Given the description of an element on the screen output the (x, y) to click on. 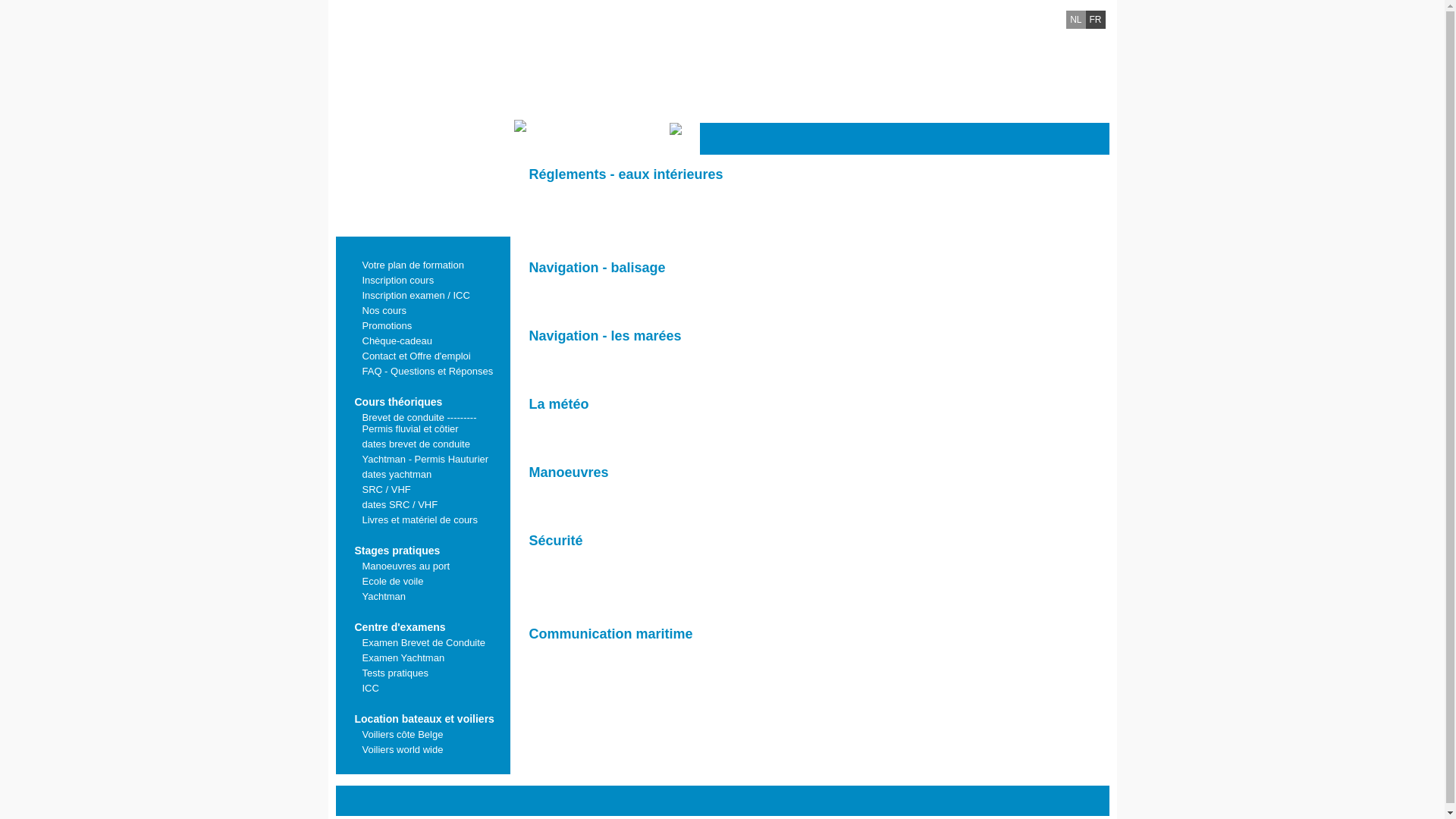
Ecole de voile Element type: text (422, 578)
Examen Yachtman Element type: text (422, 655)
FR Element type: text (1095, 19)
Contact et Offre d'emploi Element type: text (422, 353)
Yachtman Element type: text (422, 594)
Voiliers world wide Element type: text (422, 747)
Tests pratiques Element type: text (422, 670)
Inscription examen / ICC Element type: text (422, 293)
Inscription cours Element type: text (422, 277)
Facebook Element type: hover (1093, 138)
dates yachtman Element type: text (422, 472)
Examen Brevet de Conduite Element type: text (422, 640)
ICC Element type: text (422, 685)
dates brevet de conduite Element type: text (422, 441)
SRC / VHF Element type: text (422, 487)
Votre plan de formation Element type: text (422, 262)
dates SRC / VHF Element type: text (422, 502)
Promotions Element type: text (422, 323)
Nos cours Element type: text (422, 308)
Yachtman - Permis Hauturier Element type: text (422, 456)
Manoeuvres au port Element type: text (422, 563)
NL Element type: text (1075, 19)
